Given the description of an element on the screen output the (x, y) to click on. 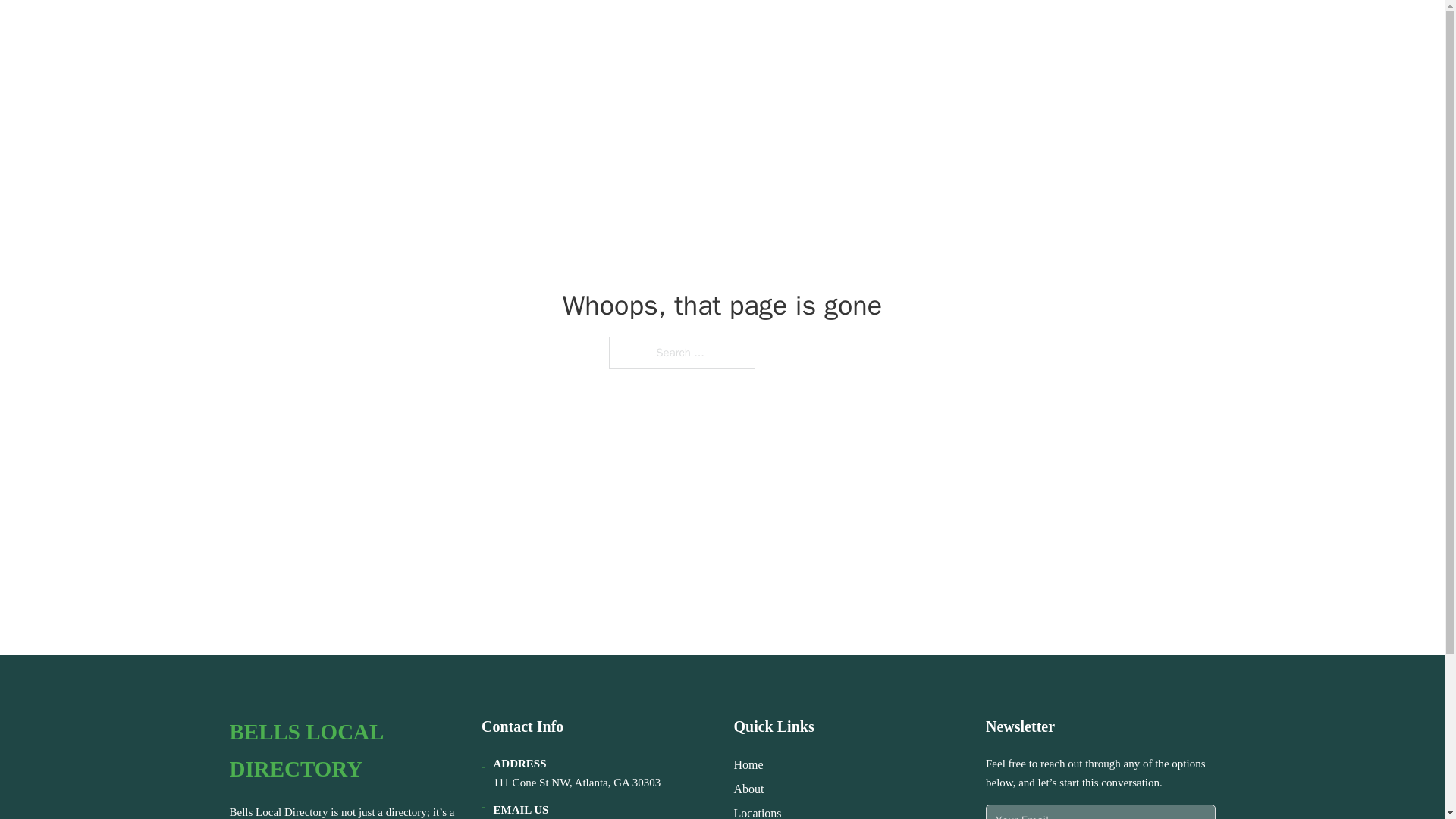
HOME (1025, 31)
Locations (757, 811)
LOCATIONS (1098, 31)
BELLS LOCAL DIRECTORY (389, 31)
Home (747, 764)
About (748, 788)
BELLS LOCAL DIRECTORY (343, 750)
